Given the description of an element on the screen output the (x, y) to click on. 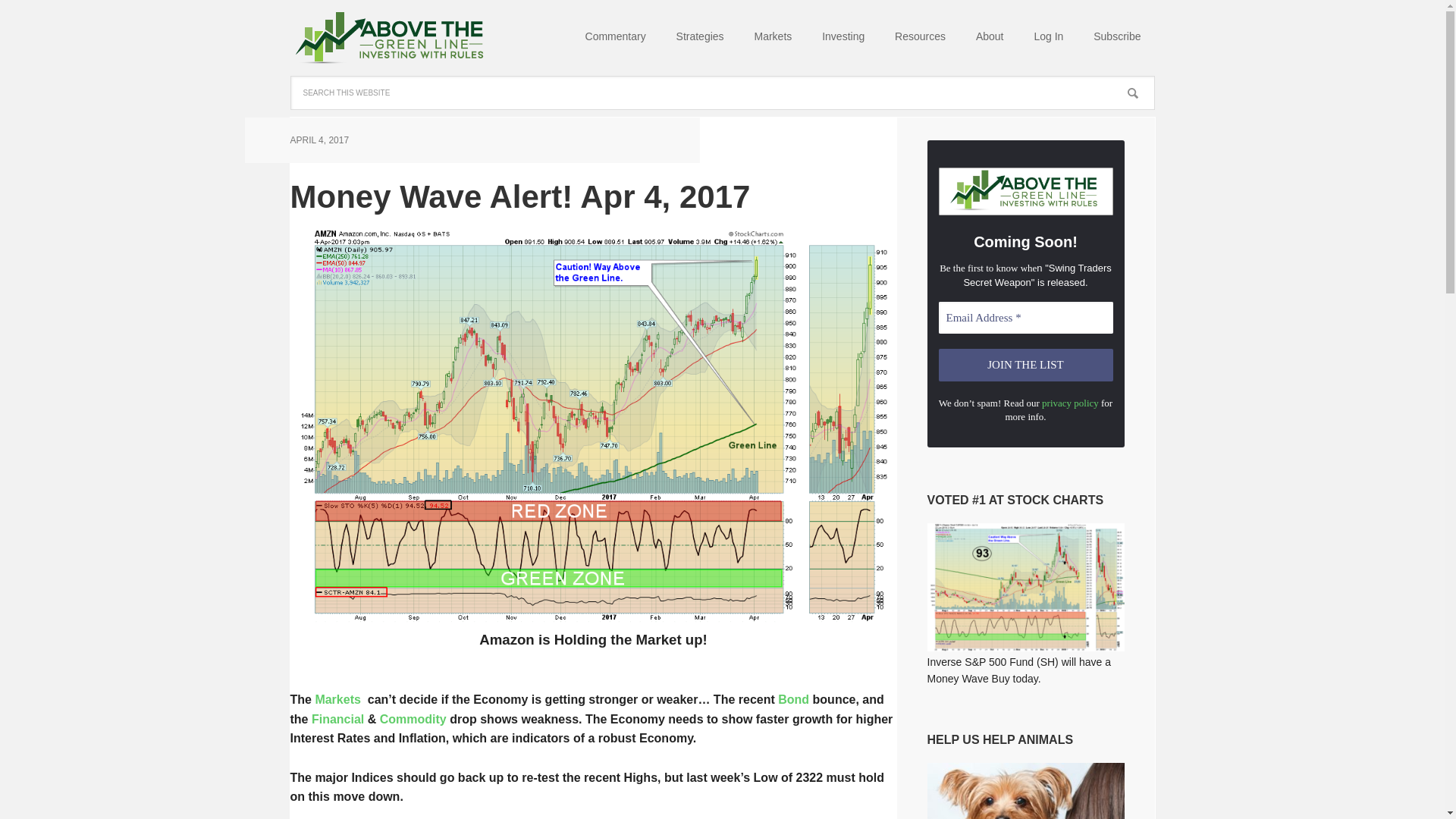
Commentary (615, 37)
Strategies (700, 37)
Above The Green Line (387, 38)
JOIN THE LIST (1026, 364)
Email Address (1026, 318)
